Given the description of an element on the screen output the (x, y) to click on. 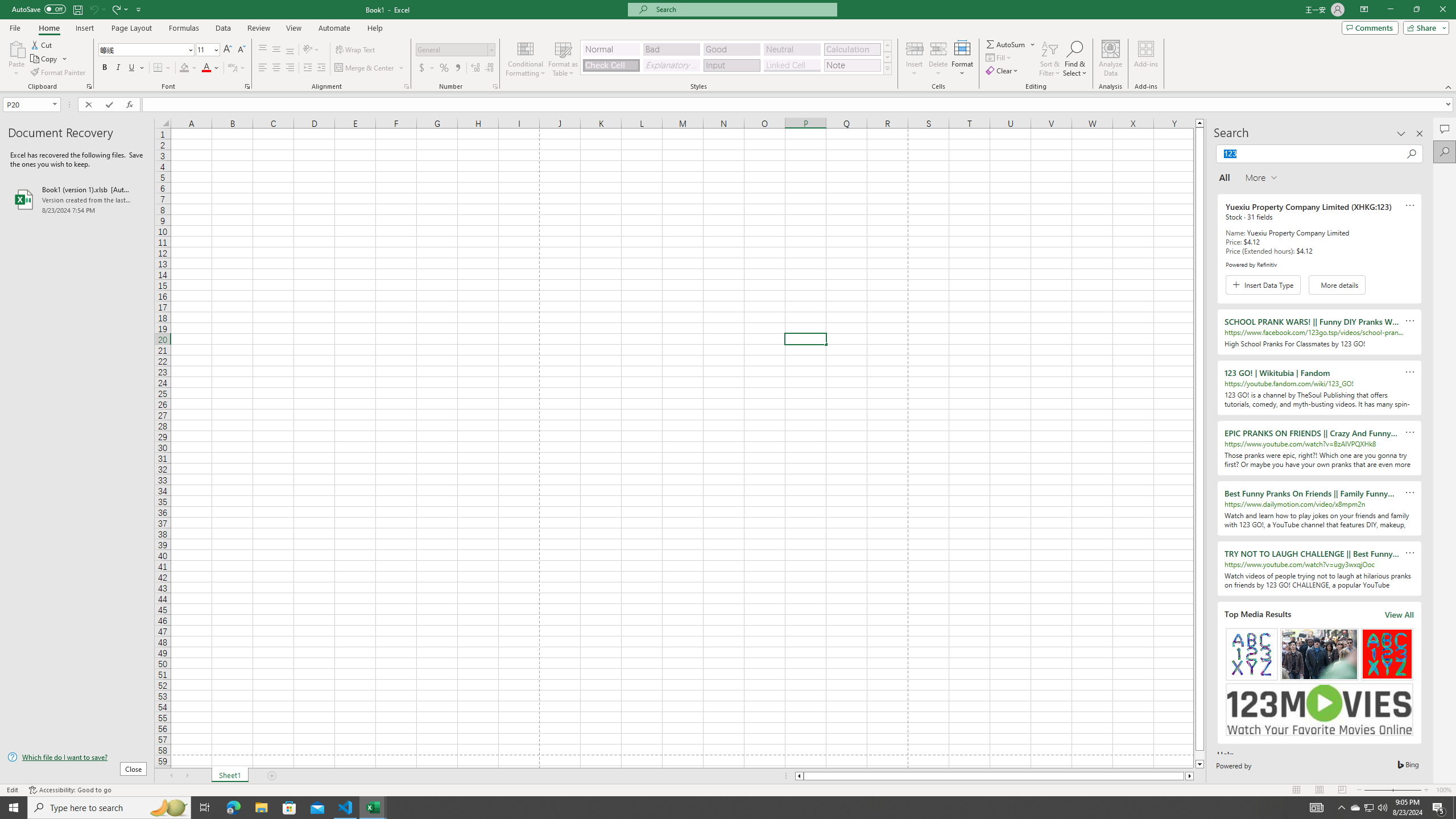
Increase Indent (320, 67)
Row up (887, 45)
Format Cell Number (494, 85)
Fill Color RGB(255, 255, 0) (183, 67)
Show Phonetic Field (236, 67)
Middle Align (276, 49)
AutoSum (1011, 44)
Class: MsoCommandBar (728, 45)
